Given the description of an element on the screen output the (x, y) to click on. 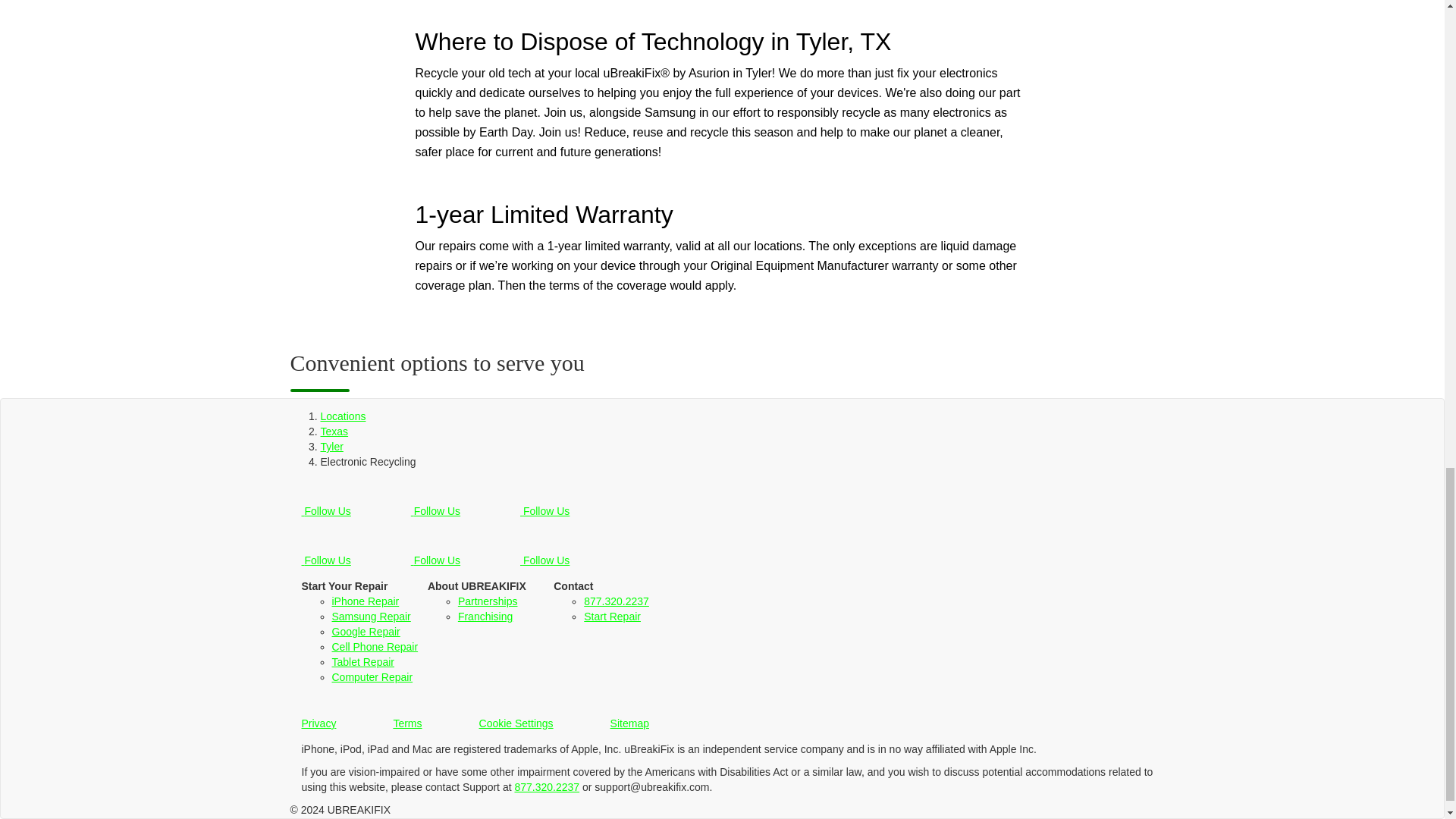
Locations (342, 416)
Follow Us (327, 554)
Follow Us (546, 504)
Follow Us (327, 504)
Follow Us (546, 554)
Follow Us (437, 504)
Follow Us (437, 554)
Tyler (331, 446)
Texas (333, 431)
